Given the description of an element on the screen output the (x, y) to click on. 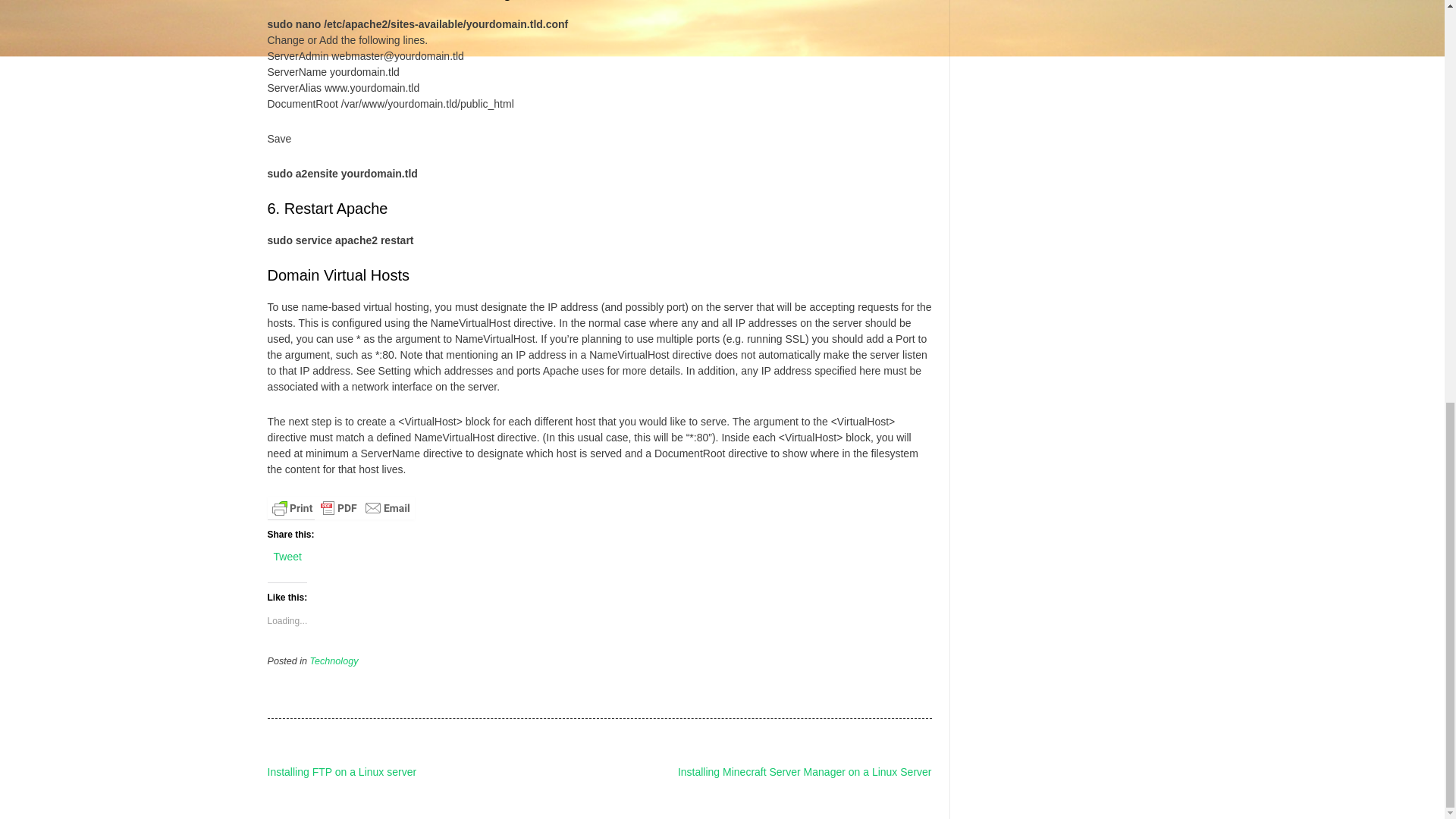
Installing Minecraft Server Manager on a Linux Server (804, 771)
Installing FTP on a Linux server (341, 771)
Tweet (287, 555)
Technology (334, 661)
